Given the description of an element on the screen output the (x, y) to click on. 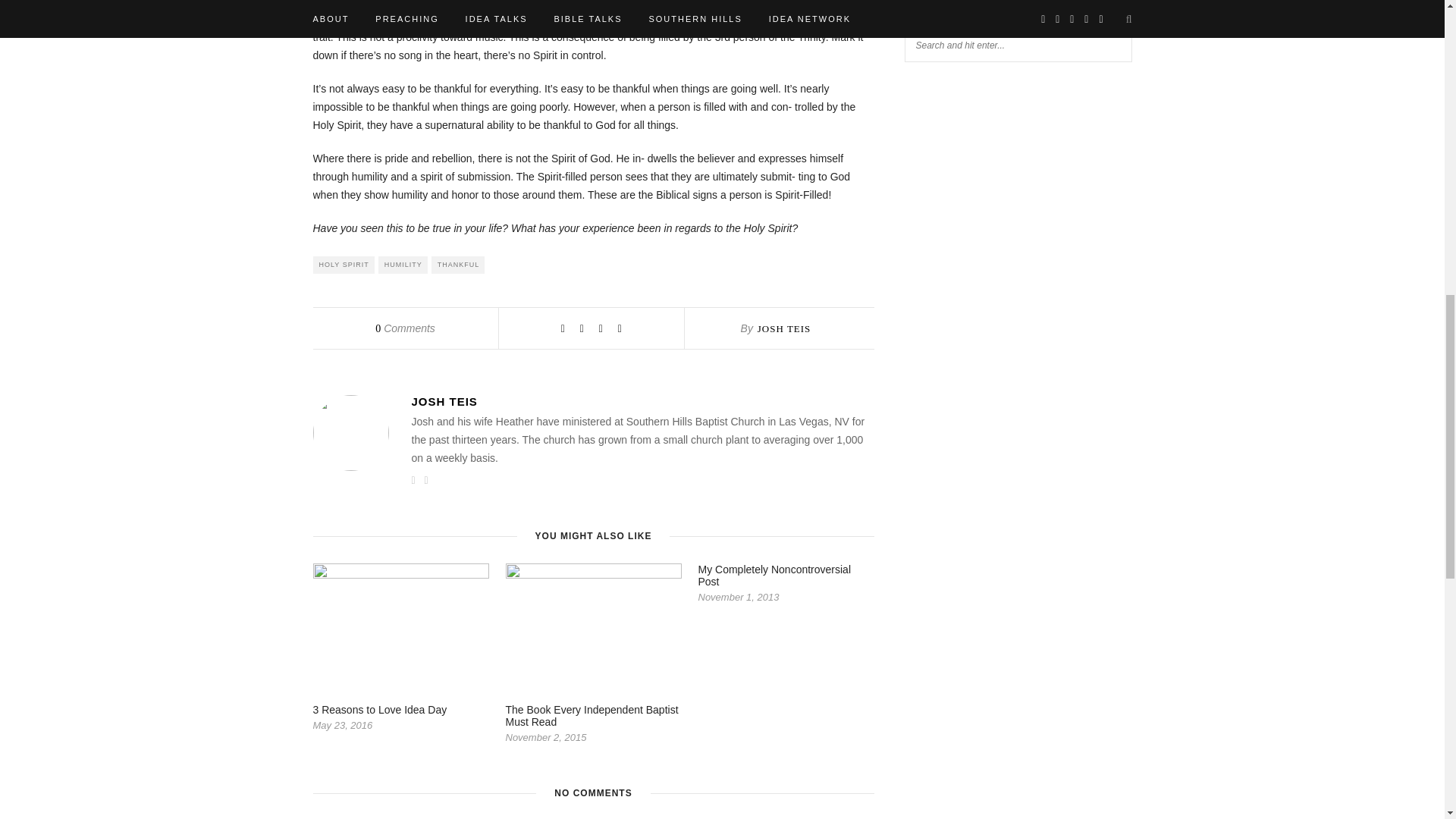
Posts by Josh Teis (783, 328)
THANKFUL (457, 264)
3 Reasons to Love Idea Day (379, 709)
My Completely Noncontroversial Post (773, 575)
0 Comments (405, 328)
HOLY SPIRIT (343, 264)
Posts by Josh Teis (641, 400)
Page 14 (593, 118)
HUMILITY (403, 264)
JOSH TEIS (641, 400)
JOSH TEIS (783, 328)
The Book Every Independent Baptist Must Read (591, 715)
